Given the description of an element on the screen output the (x, y) to click on. 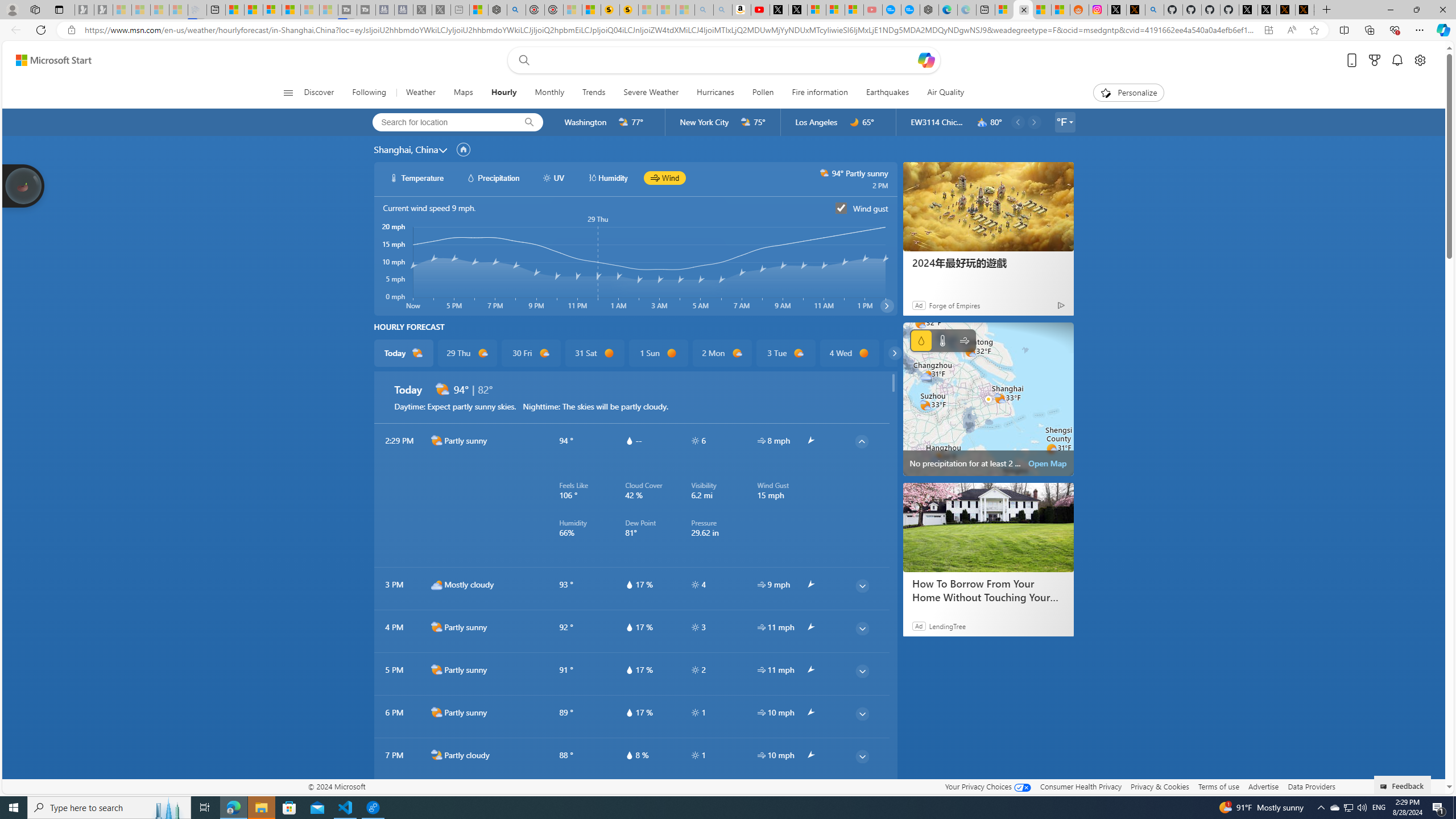
static map image of vector map (988, 398)
hourlyTable/wind (761, 755)
Open Map (1047, 463)
hourlyTable/drop (628, 755)
amazon - Search - Sleeping (703, 9)
Privacy & Cookies (1160, 785)
Hurricanes (715, 92)
